Given the description of an element on the screen output the (x, y) to click on. 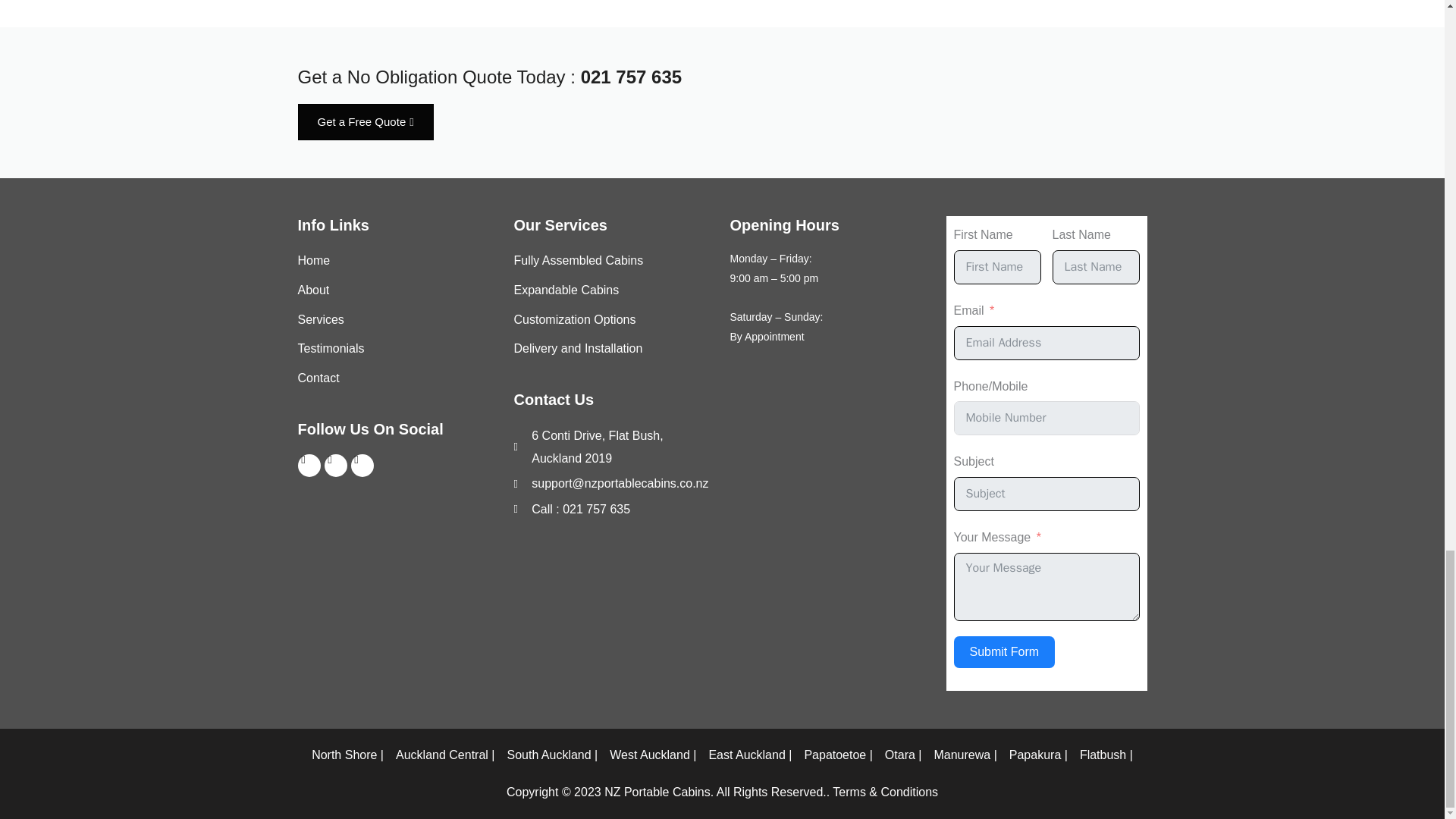
About (397, 290)
Services (397, 319)
Twitter (335, 465)
Home (397, 260)
Facebook (308, 465)
6 Conti Drive, Flat Bush, Auckland 2019 (613, 447)
Contact (397, 377)
Call : 021 757 635 (613, 508)
Submit Form (1004, 652)
Get a No Obligation Quote Today : 021 757 635 (489, 76)
